Given the description of an element on the screen output the (x, y) to click on. 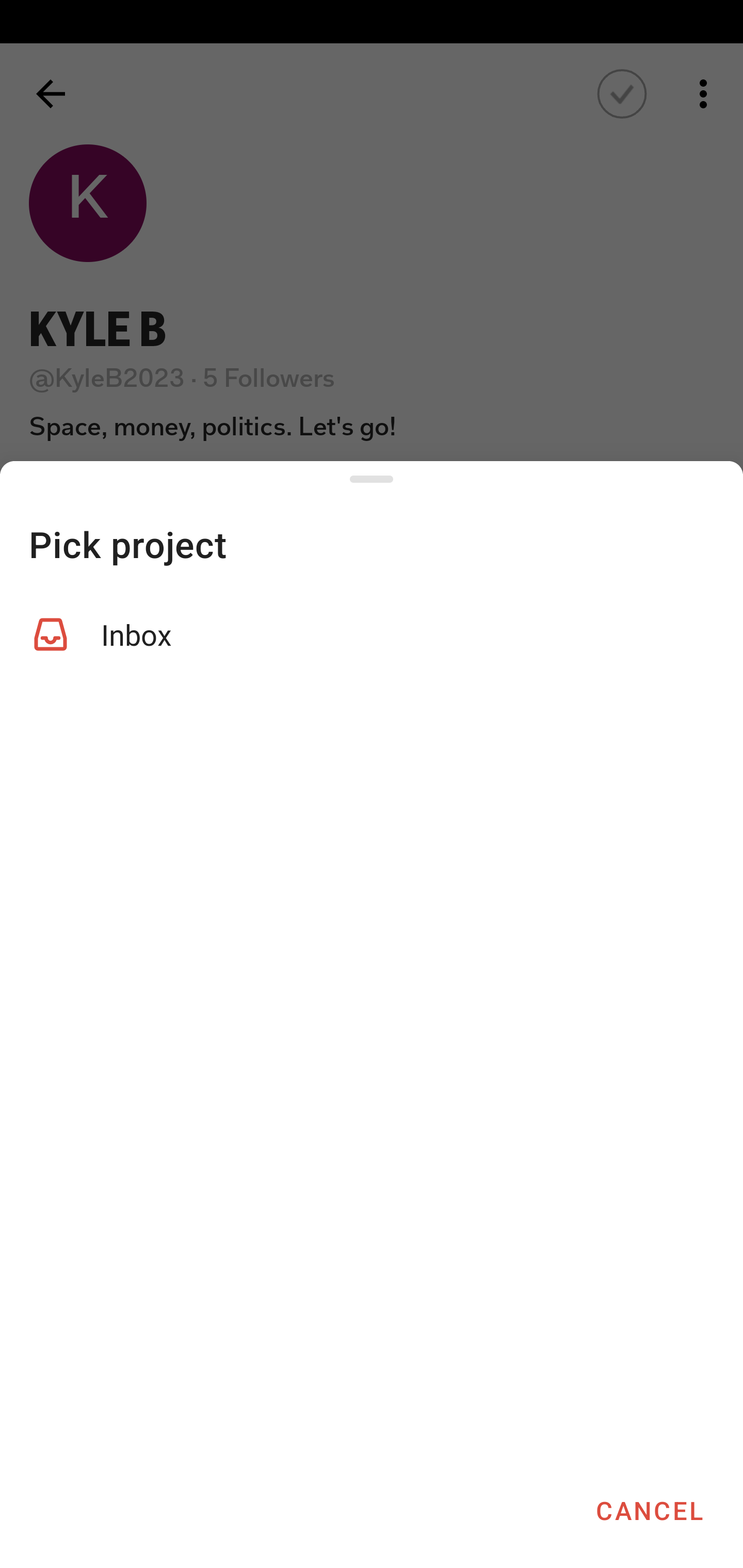
Inbox (371, 634)
CANCEL (648, 1510)
